Given the description of an element on the screen output the (x, y) to click on. 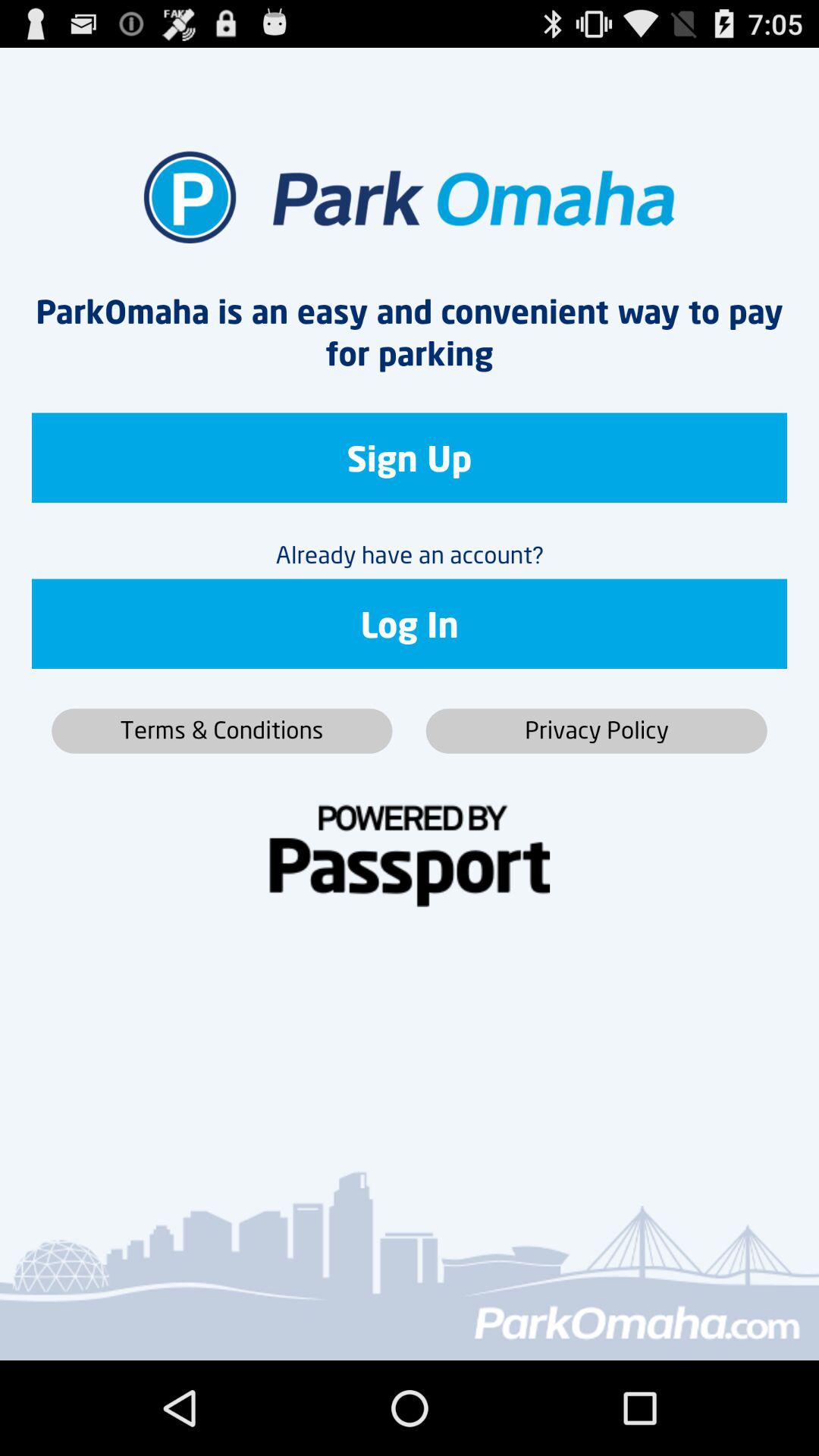
turn off the sign up (409, 457)
